Given the description of an element on the screen output the (x, y) to click on. 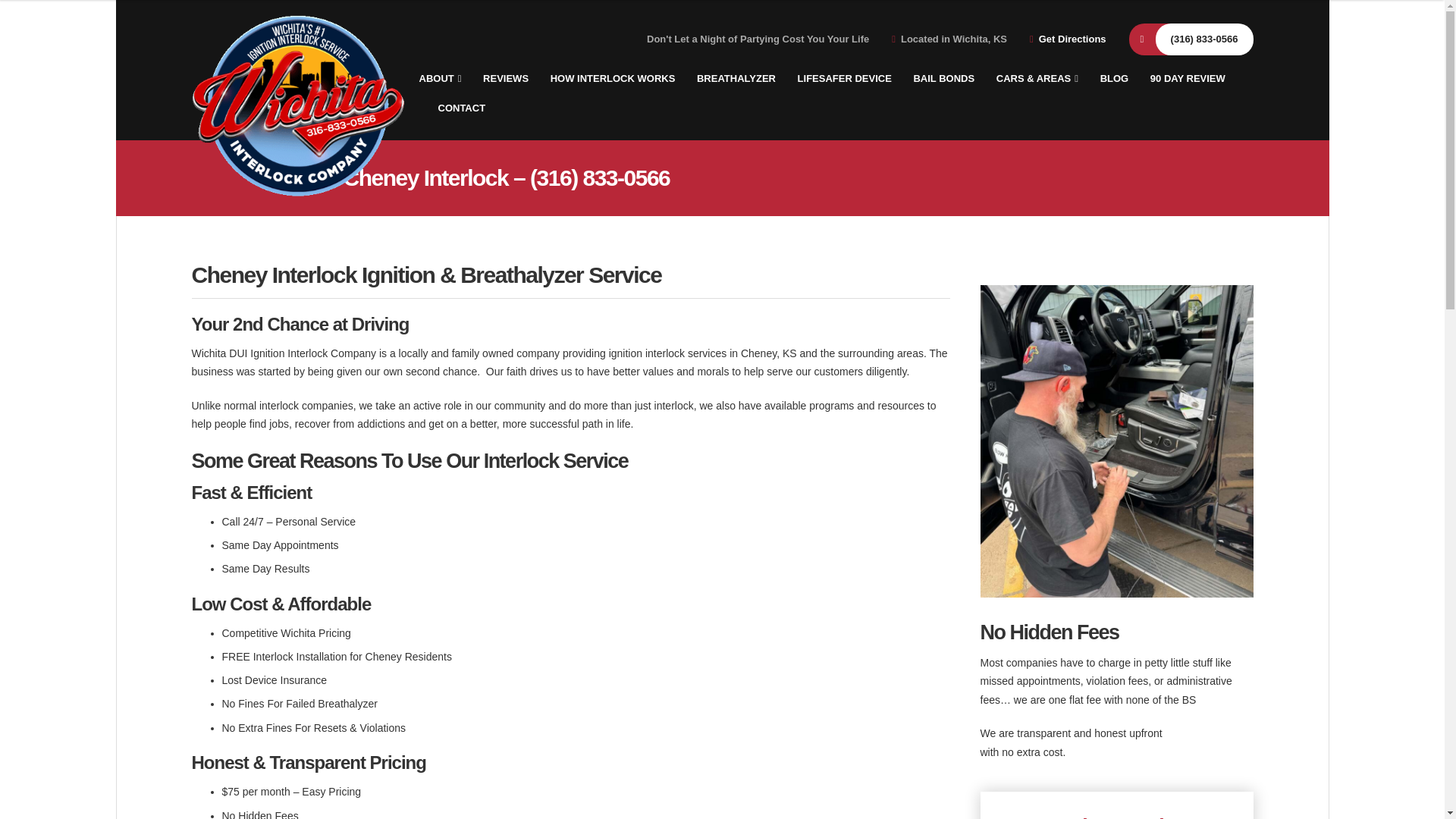
HOW INTERLOCK WORKS (612, 79)
LIFESAFER DEVICE (844, 79)
ABOUT (440, 79)
REVIEWS (505, 79)
BAIL BONDS (943, 79)
BLOG (1114, 79)
BREATHALYZER (736, 79)
90 DAY REVIEW (1187, 79)
Get Directions (1072, 39)
